Given the description of an element on the screen output the (x, y) to click on. 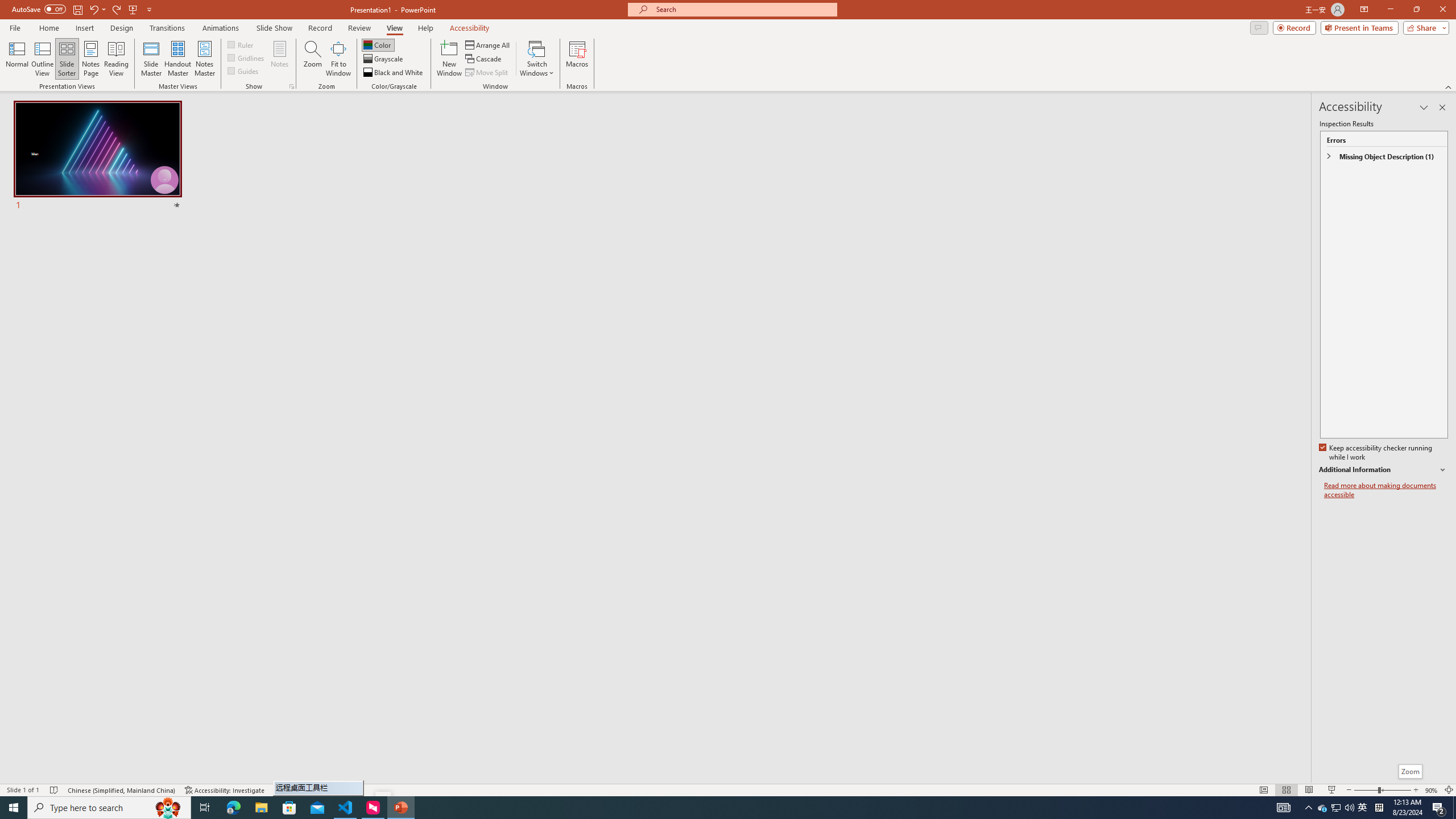
Fit to Window (338, 58)
Guides (243, 69)
Notes (279, 58)
